Given the description of an element on the screen output the (x, y) to click on. 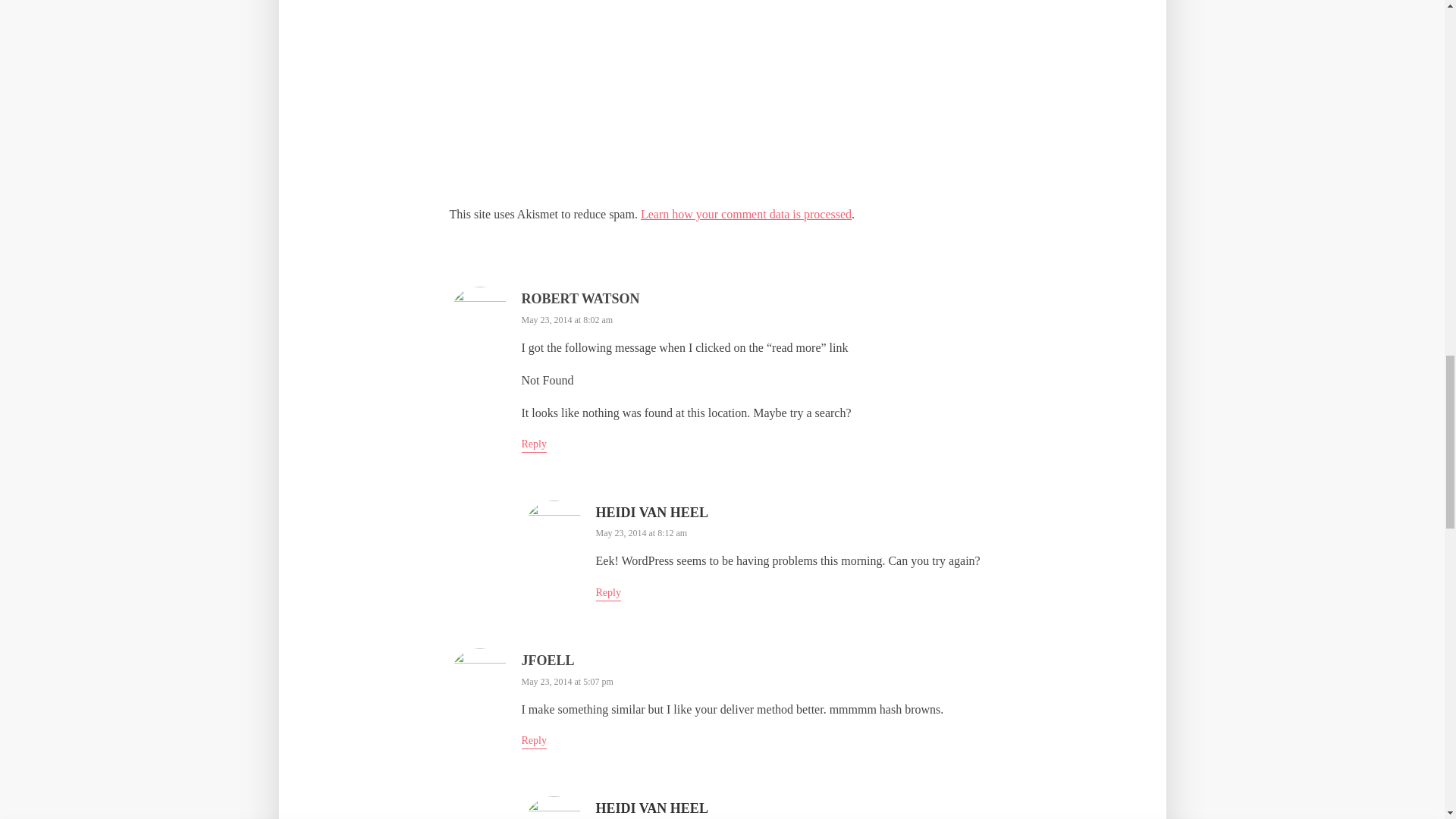
Reply (534, 445)
Learn how your comment data is processed (745, 214)
Reply (534, 741)
Reply (608, 594)
May 23, 2014 at 8:02 am (566, 319)
May 23, 2014 at 8:12 am (641, 532)
HEIDI VAN HEEL (651, 807)
HEIDI VAN HEEL (651, 512)
May 23, 2014 at 5:07 pm (566, 681)
Comment Form (721, 97)
